Given the description of an element on the screen output the (x, y) to click on. 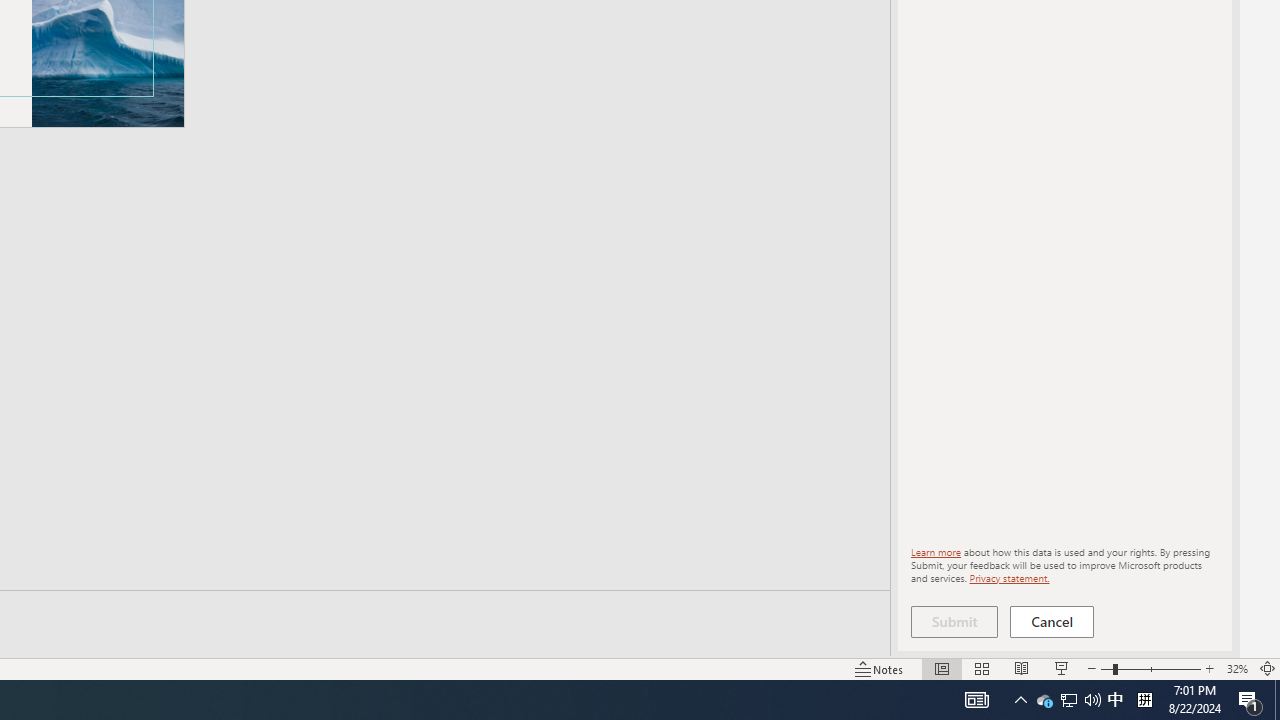
Cancel (1051, 621)
Normal (941, 668)
Zoom (1150, 668)
Slide Sorter (982, 668)
Zoom 32% (1236, 668)
Privacy statement. (1008, 577)
Slide Show (1061, 668)
Learn more (936, 551)
Zoom Out (1106, 668)
Reading View (1021, 668)
Submit (954, 621)
Zoom to Fit  (1267, 668)
Zoom In (1209, 668)
Notes  (879, 668)
